Given the description of an element on the screen output the (x, y) to click on. 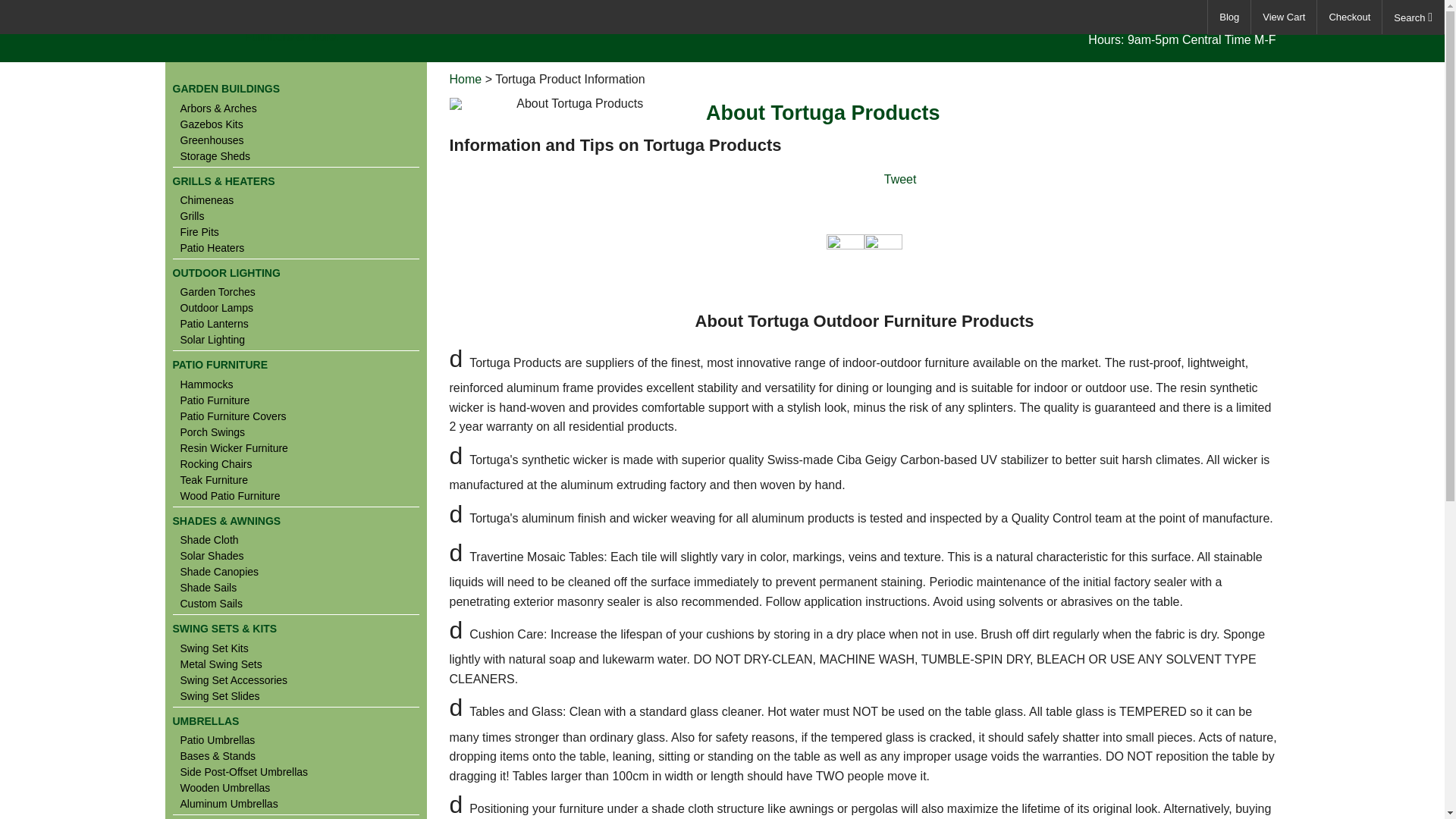
Search (1412, 17)
888-253-9736 (1230, 23)
View Cart (1283, 17)
Checkout (1349, 17)
Blog (1229, 17)
